Given the description of an element on the screen output the (x, y) to click on. 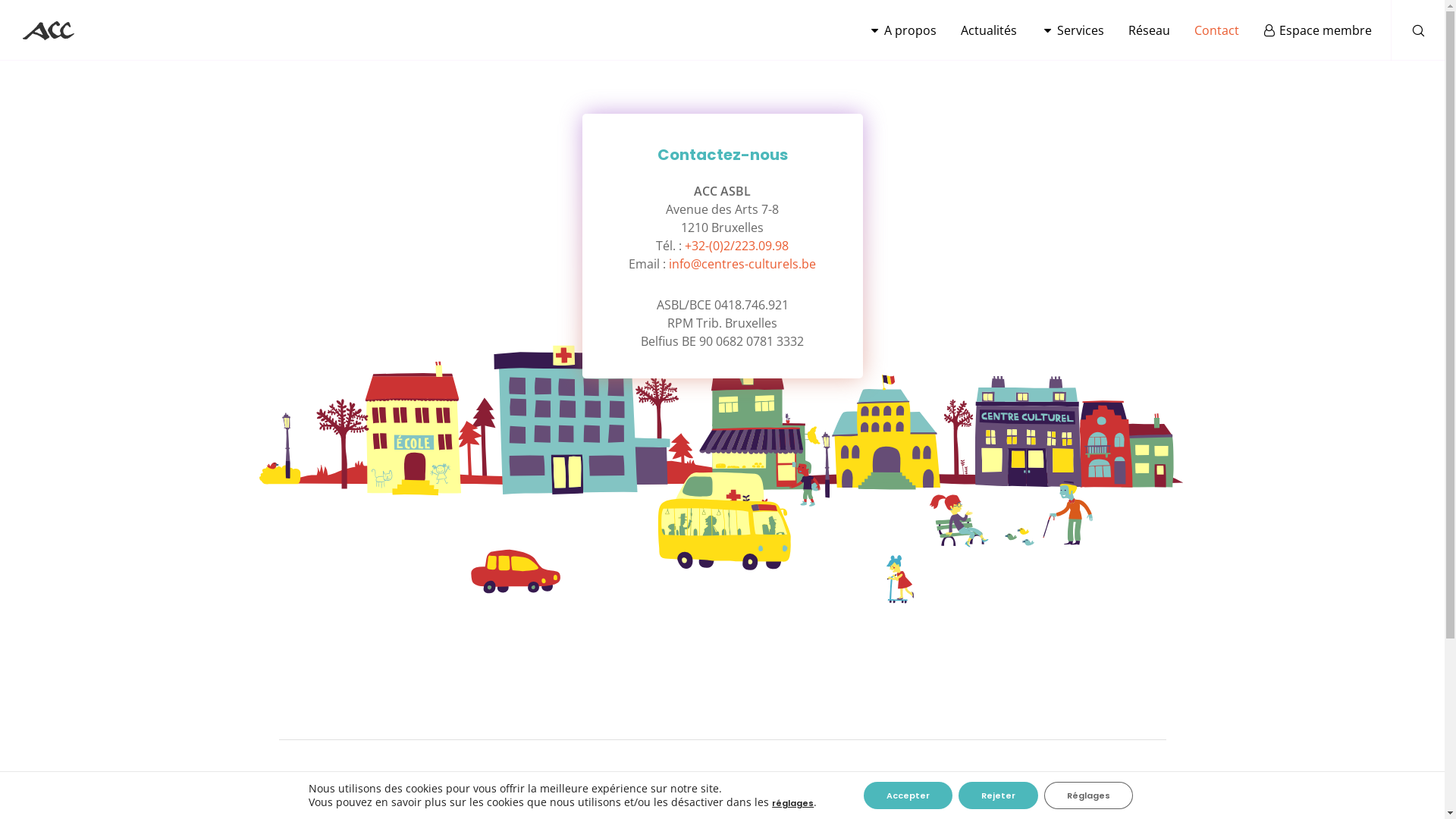
Accepter Element type: text (907, 795)
Espace membre Element type: text (1305, 30)
Rejeter Element type: text (998, 795)
A propos Element type: text (890, 30)
+32-(0)2/223.09.98 Element type: text (736, 245)
Contact Element type: text (1204, 30)
Services Element type: text (1060, 30)
info@centres-culturels.be Element type: text (741, 263)
